Given the description of an element on the screen output the (x, y) to click on. 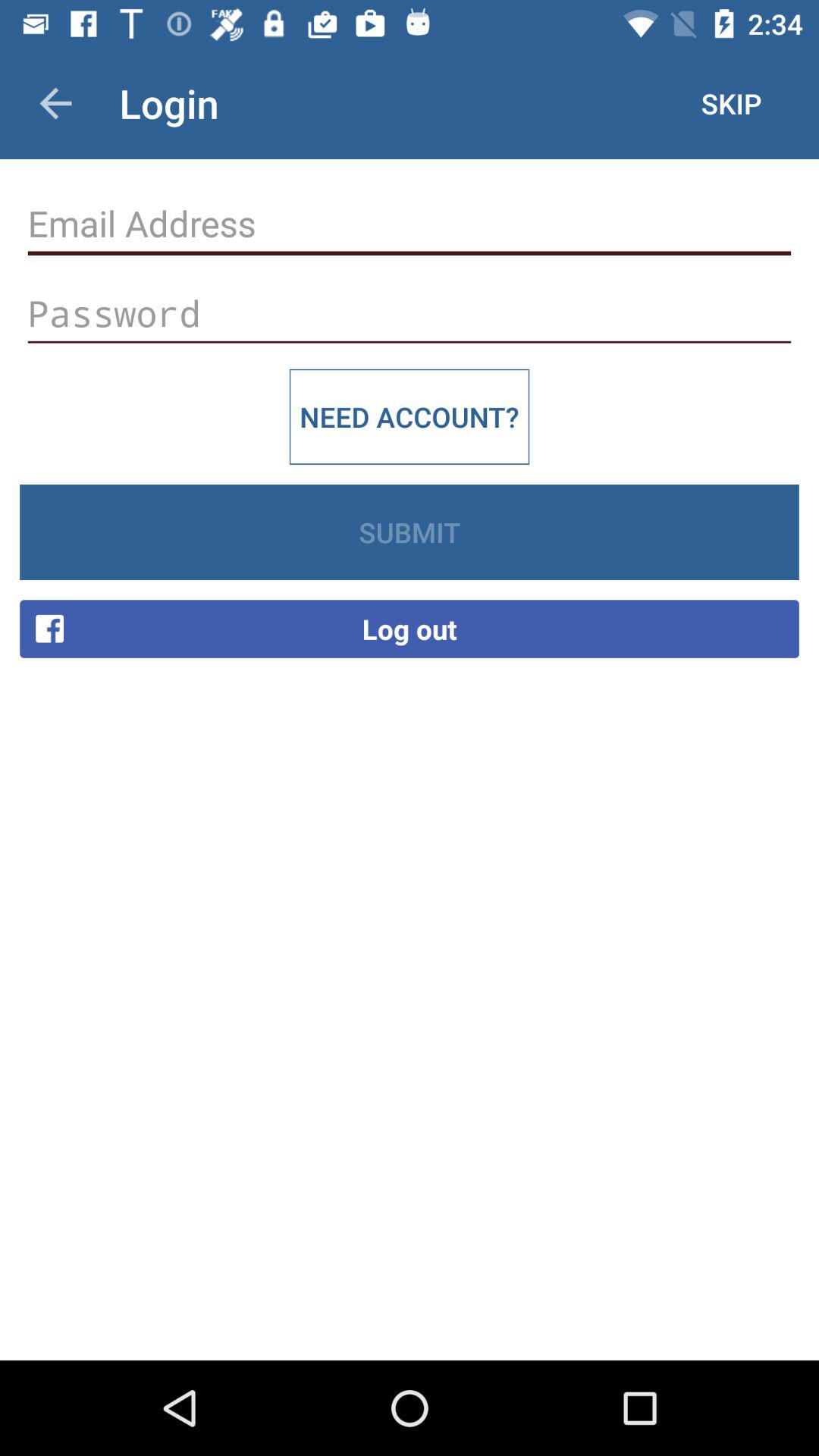
flip until submit (409, 532)
